Given the description of an element on the screen output the (x, y) to click on. 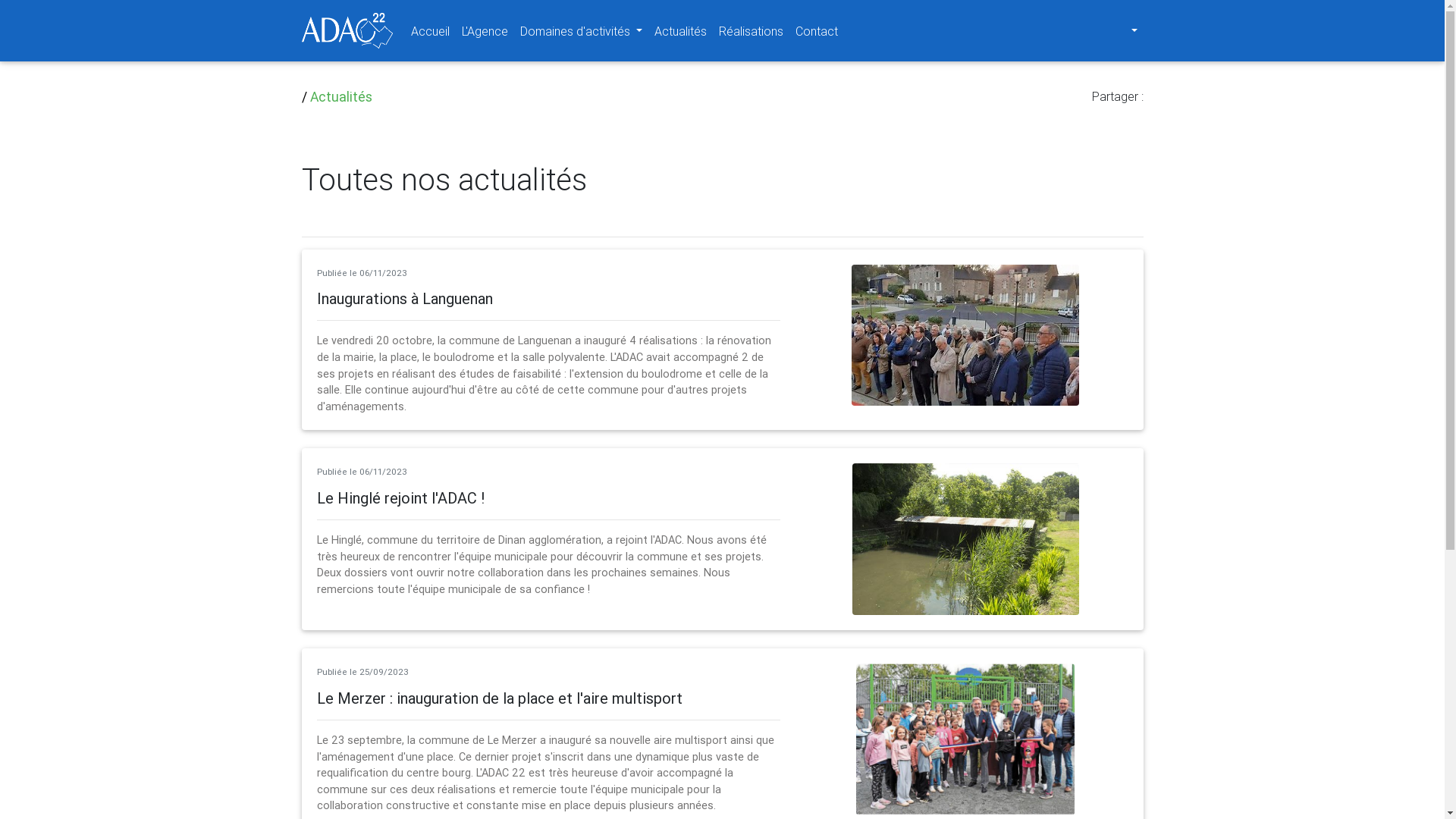
Contact Element type: text (816, 30)
L'Agence Element type: text (484, 30)
Accueil Element type: text (429, 30)
